Given the description of an element on the screen output the (x, y) to click on. 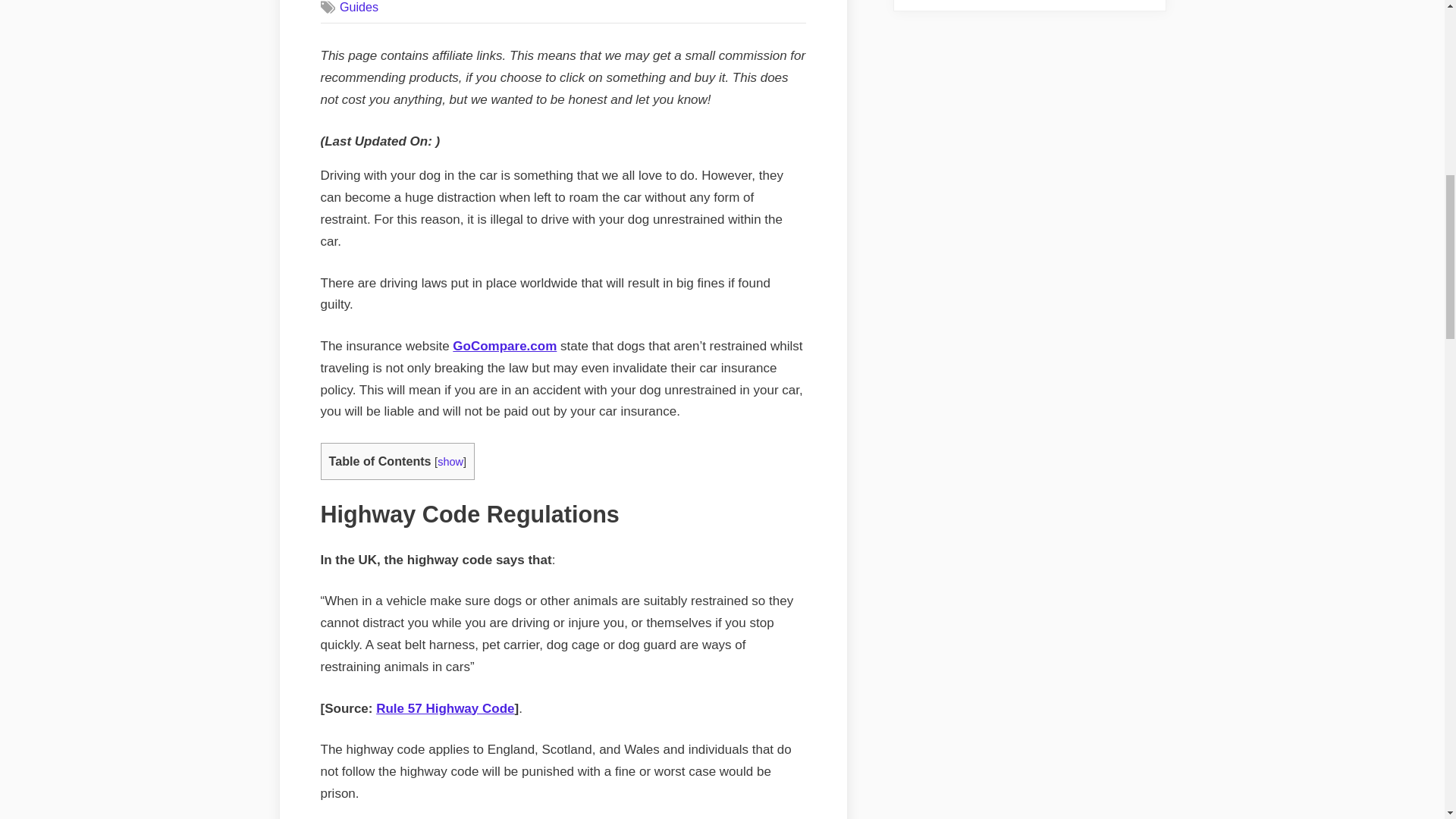
Guides (358, 6)
Rule 57 Highway Code (444, 708)
show (450, 461)
GoCompare.com (504, 345)
